Given the description of an element on the screen output the (x, y) to click on. 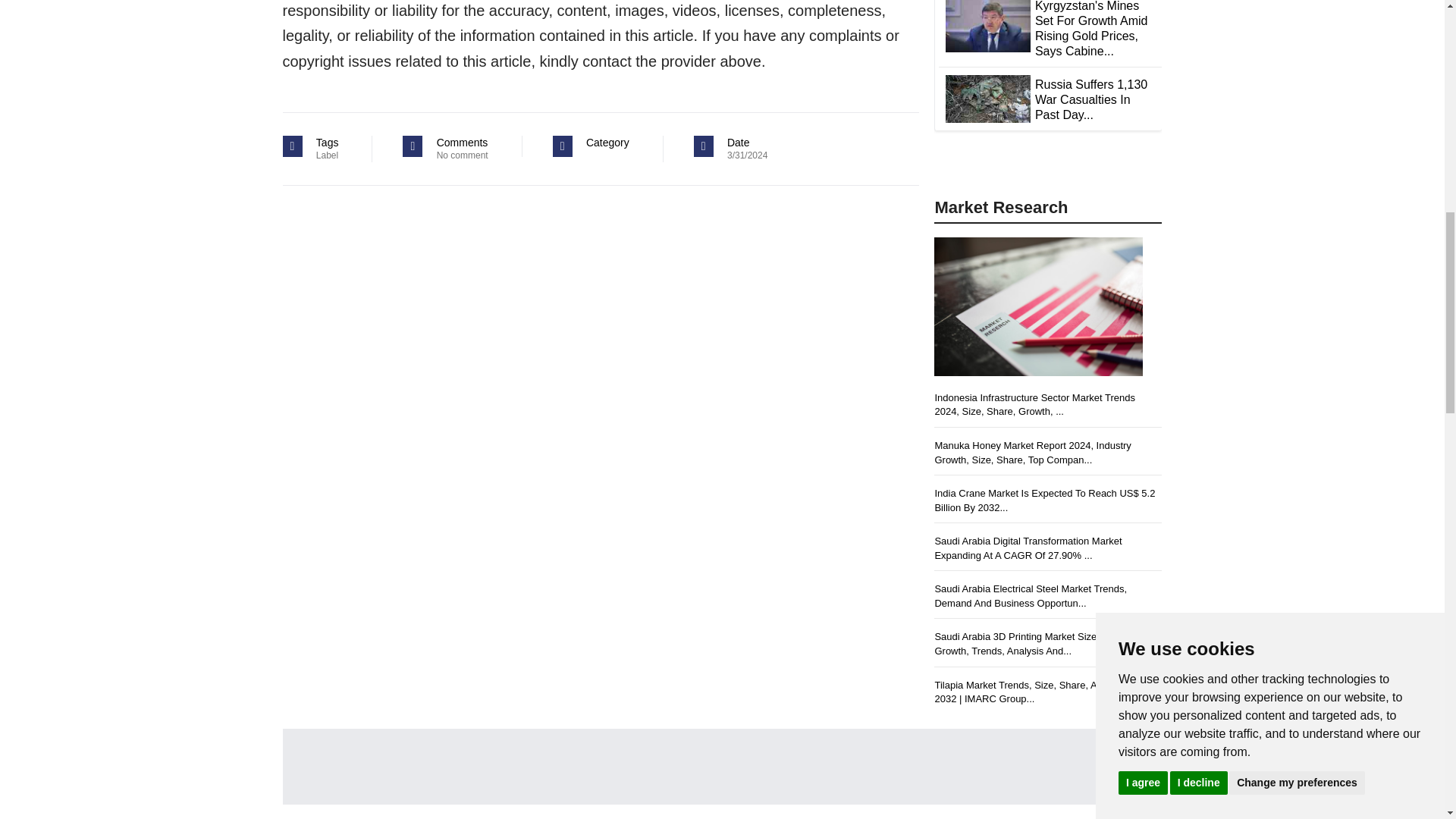
Advertisement (733, 766)
